Given the description of an element on the screen output the (x, y) to click on. 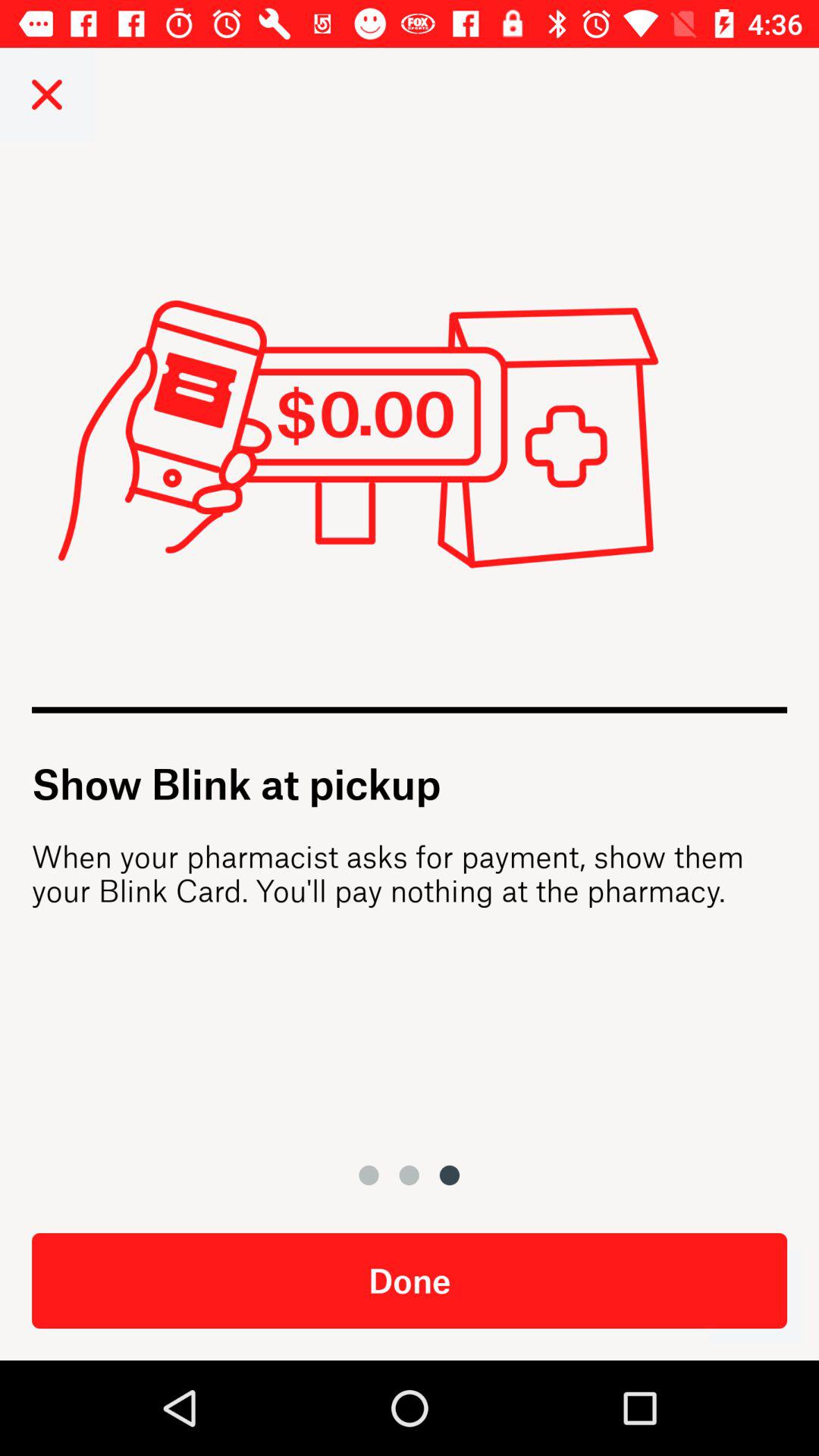
choose item below the when your pharmacist (755, 1296)
